Given the description of an element on the screen output the (x, y) to click on. 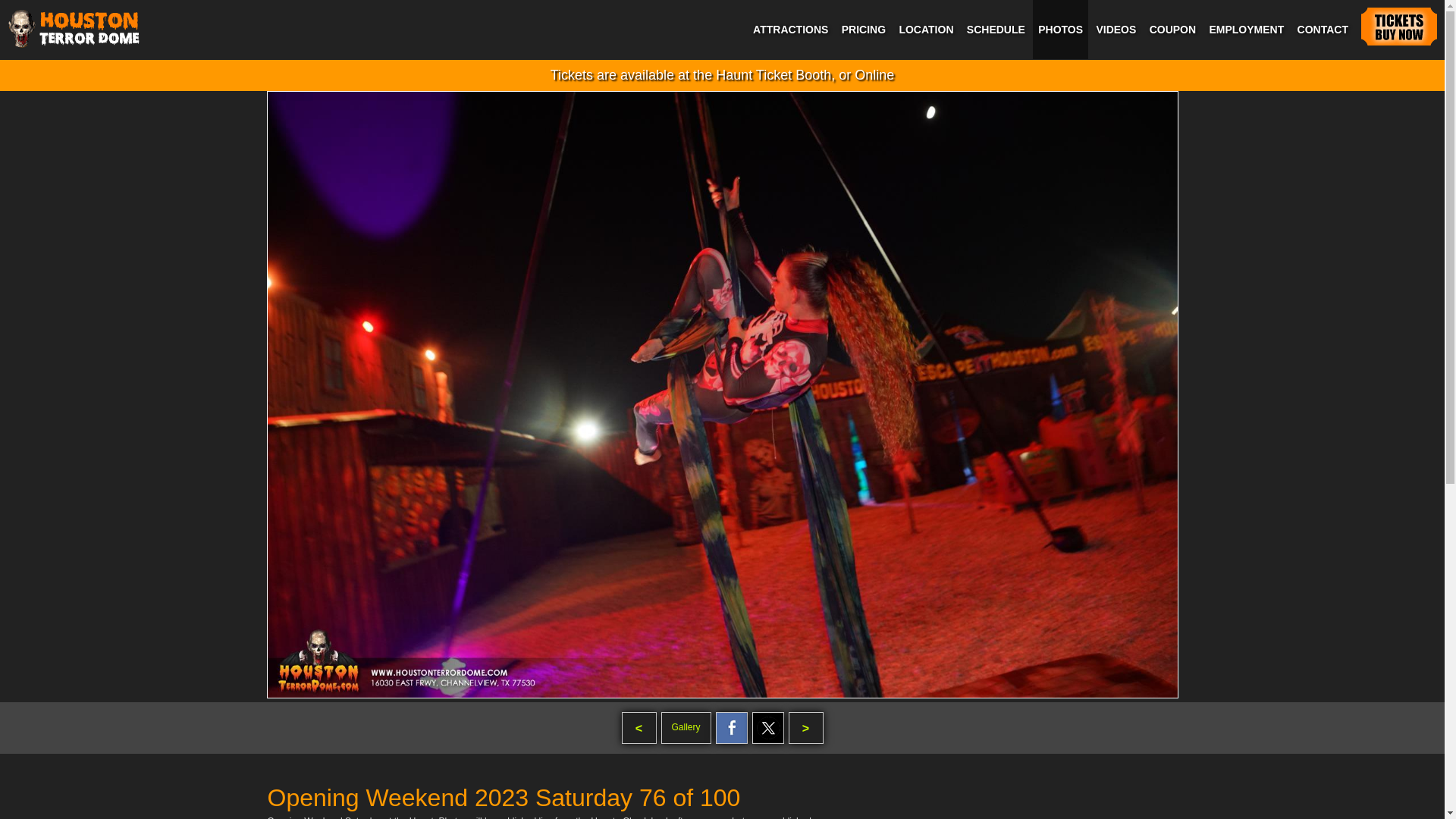
LOCATION (925, 29)
Houston Terror Dome Haunted Houses Hours and Schedule (995, 29)
Videos from Houston Terror Dome Haunted Houses (1115, 29)
PHOTOS (1059, 29)
Contact Houston Terror Dome Haunted Houses (1323, 29)
About Houston Terror Dome Haunted Houses (863, 29)
PRICING (863, 29)
EMPLOYMENT (1246, 29)
COUPON (1172, 29)
Share on Twitter (768, 727)
ATTRACTIONS (790, 29)
SCHEDULE (995, 29)
Gallery (686, 727)
Houston Terror Dome Haunted Houses Coupon (1172, 29)
